Given the description of an element on the screen output the (x, y) to click on. 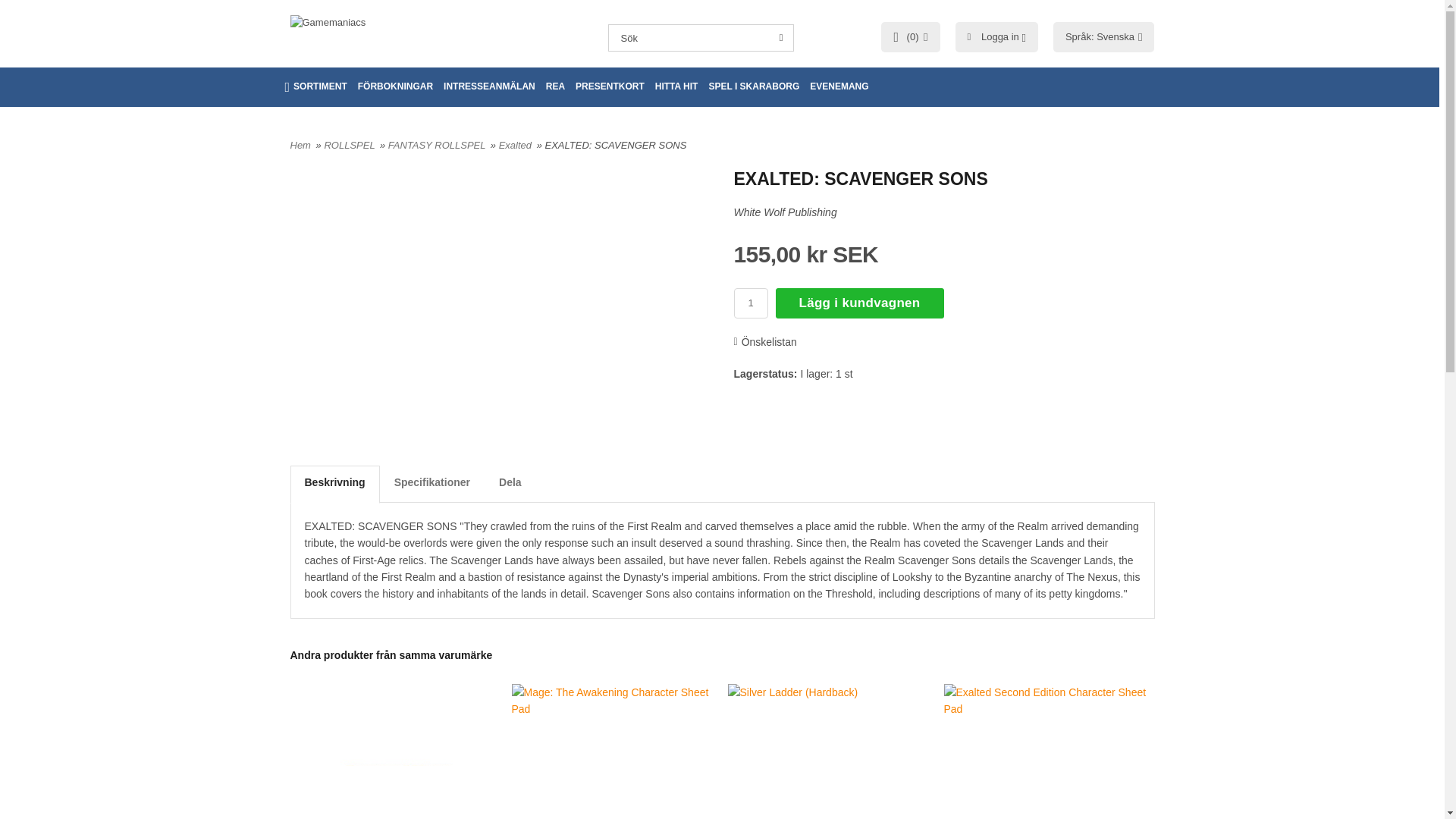
HITTA HIT (676, 86)
SORTIMENT (315, 86)
PRESENTKORT (609, 86)
EVENEMANG (839, 86)
SPEL I SKARABORG (754, 86)
Logga in (1000, 36)
PRESENTKORT (609, 86)
1 (750, 303)
